Given the description of an element on the screen output the (x, y) to click on. 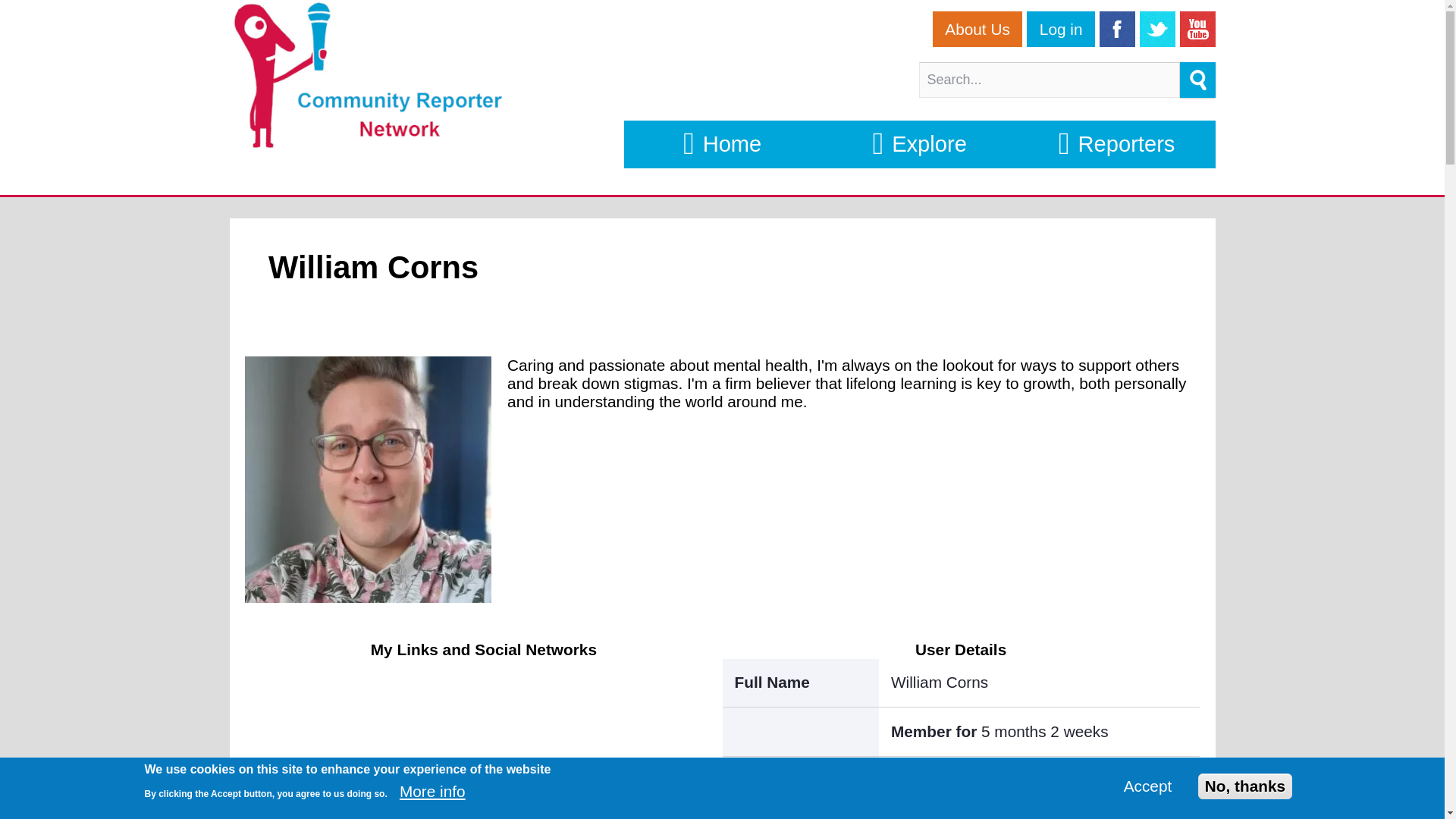
Youtube (1197, 28)
PVM Youtube (1197, 28)
Reporters (1115, 144)
Explore (919, 144)
Search (1197, 79)
Twitter (1157, 28)
Home (722, 144)
Twitter (1157, 28)
Log in (1060, 28)
